Given the description of an element on the screen output the (x, y) to click on. 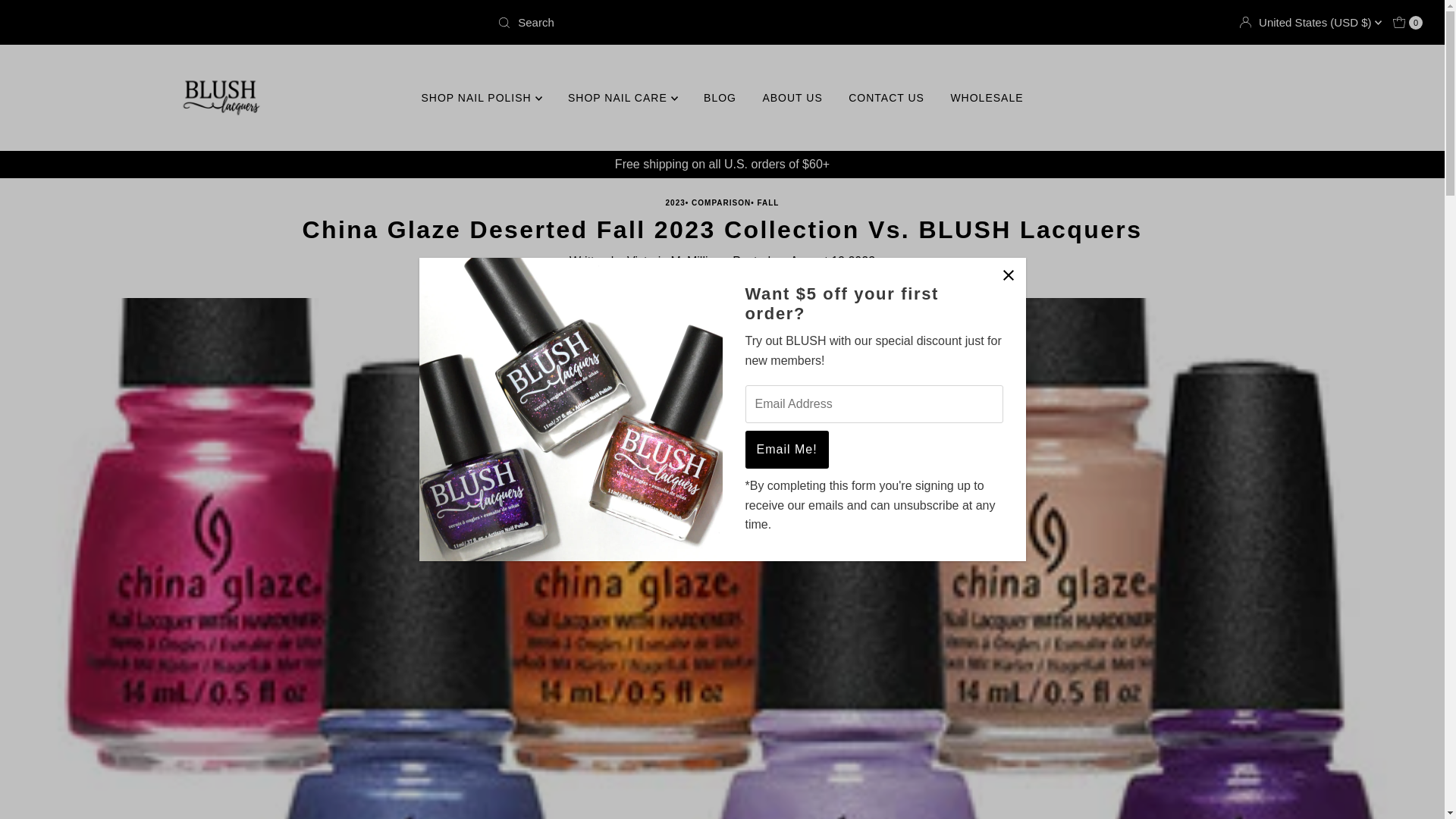
Email Me! (786, 449)
Search our store (722, 22)
